Given the description of an element on the screen output the (x, y) to click on. 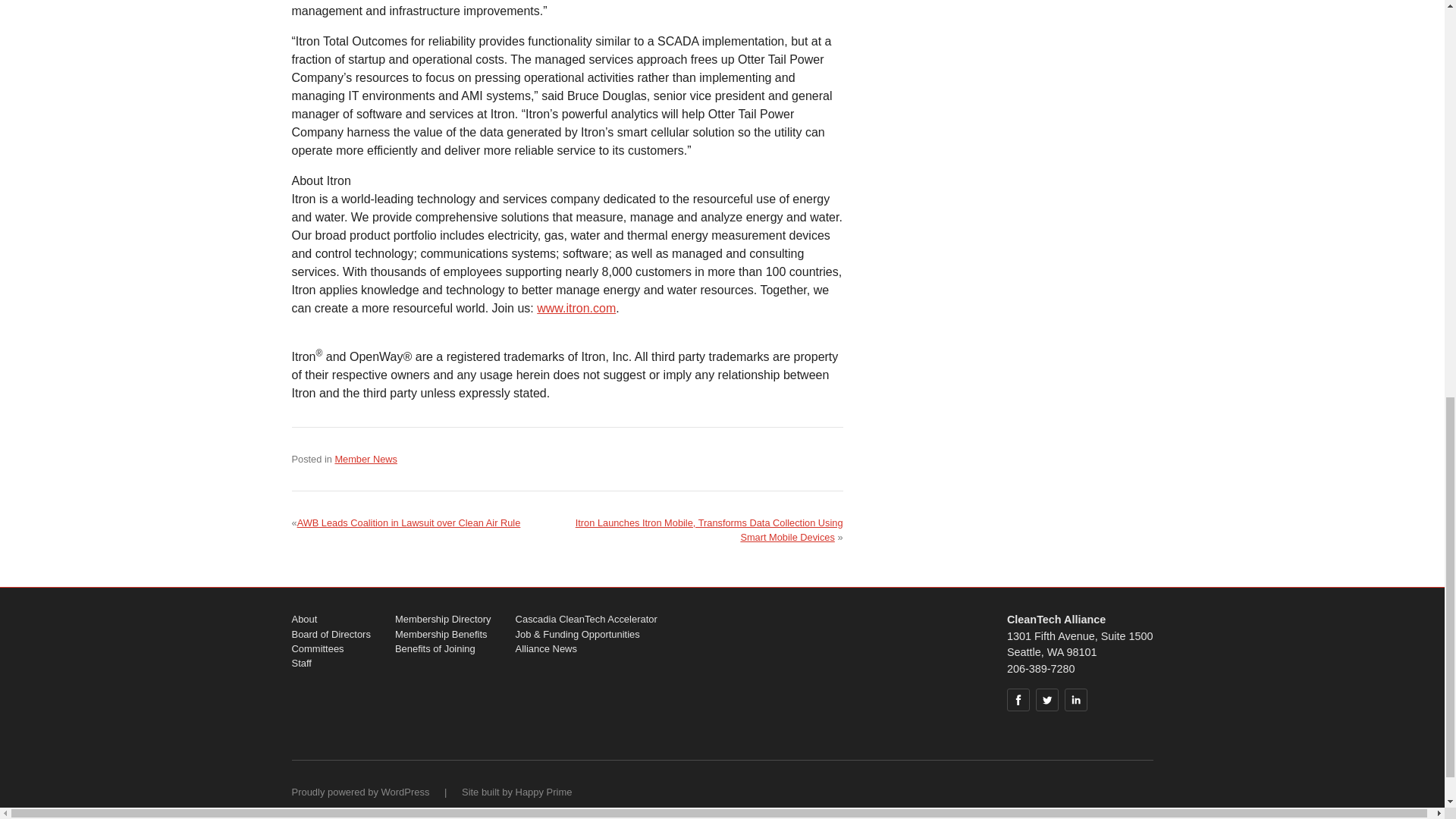
Vist CleanTech Alliance on LinkedIn (1075, 699)
Visit CleanTech Alliance on Twitter (1046, 699)
Visit CleanTech Alliance on Facebook (1018, 699)
